Given the description of an element on the screen output the (x, y) to click on. 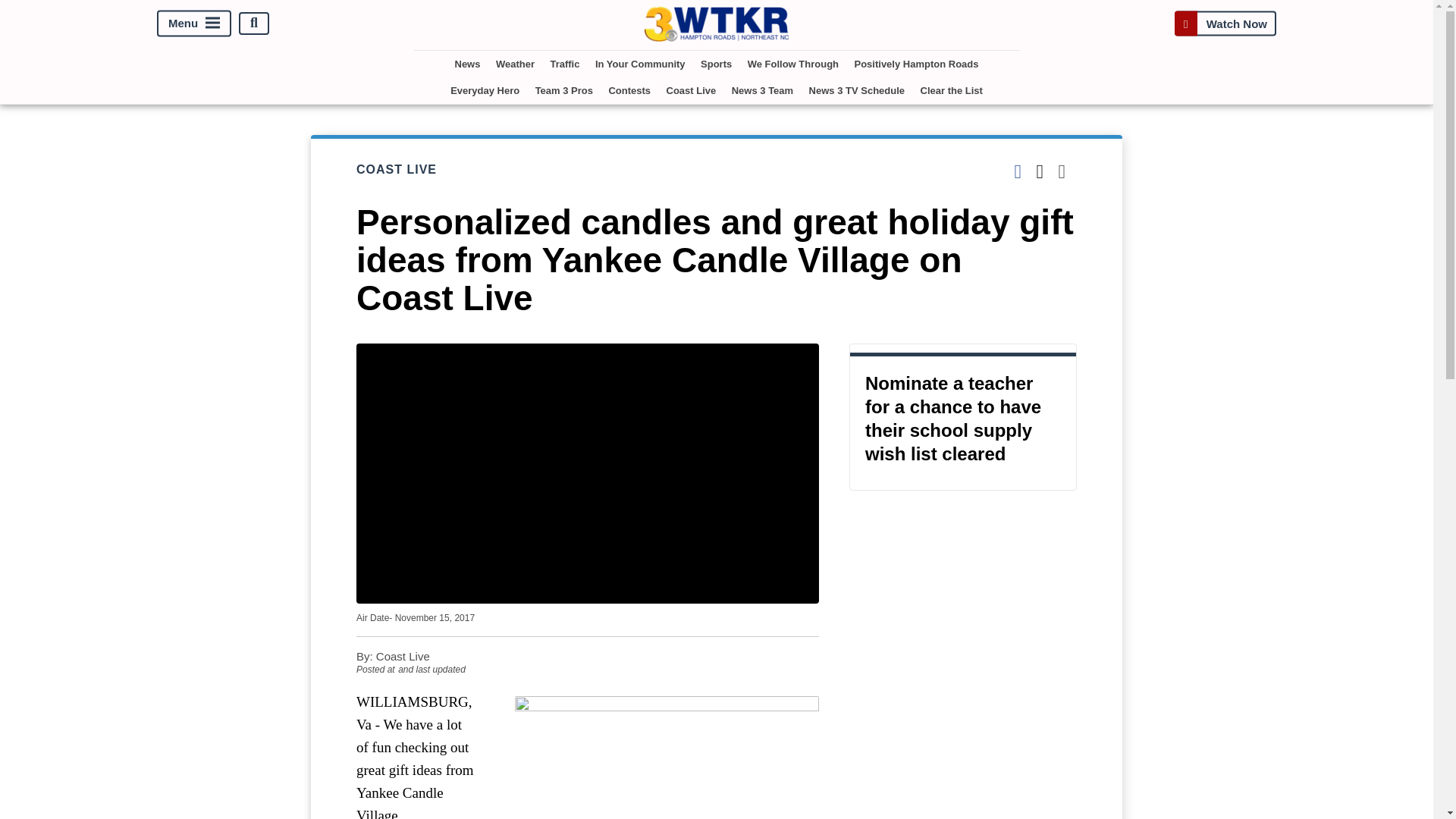
Menu (194, 22)
Watch Now (1224, 22)
